Given the description of an element on the screen output the (x, y) to click on. 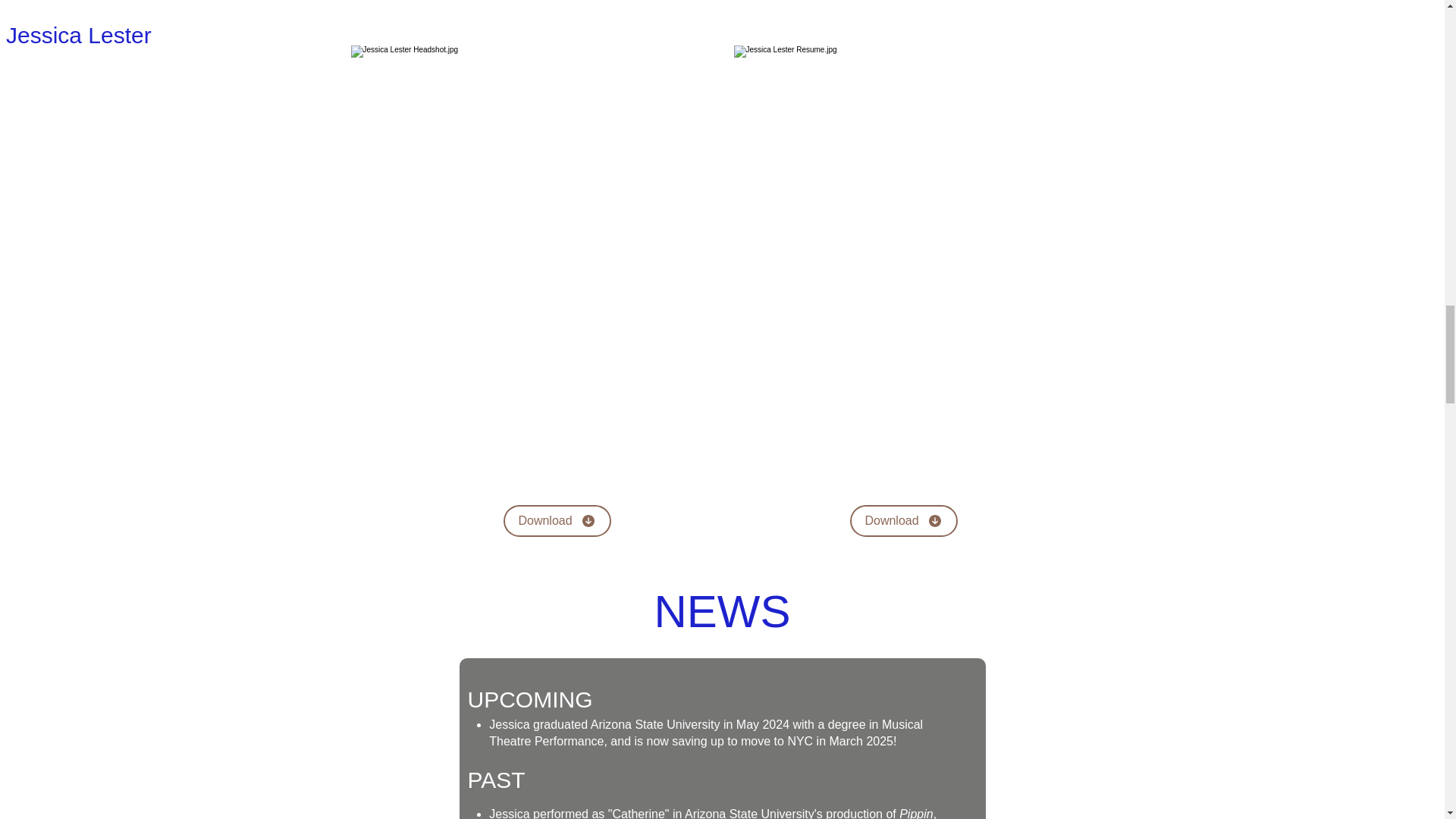
Download (557, 521)
Download (902, 521)
